Given the description of an element on the screen output the (x, y) to click on. 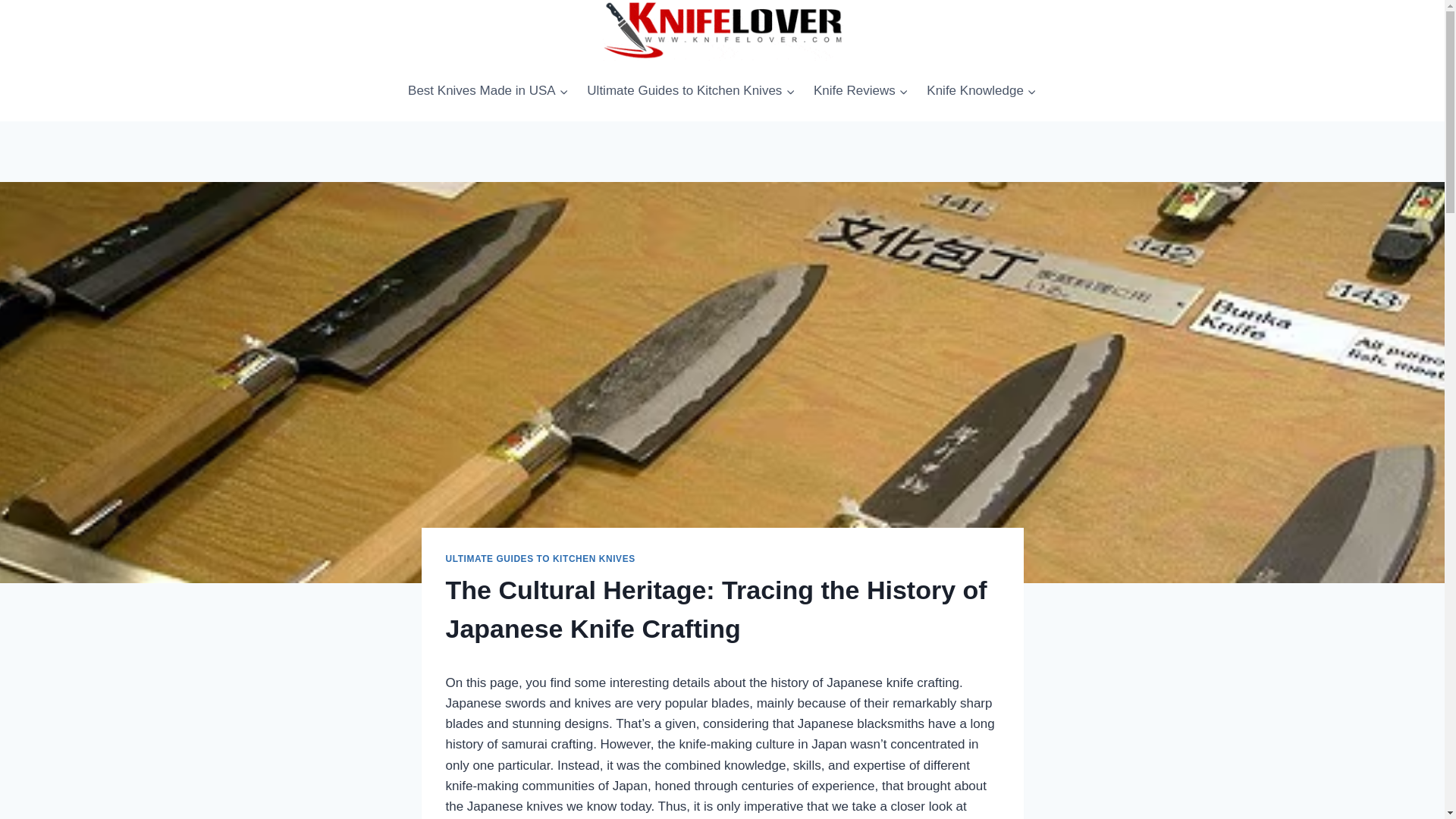
Knife Reviews (861, 90)
Knife Knowledge (981, 90)
Ultimate Guides to Kitchen Knives (691, 90)
Best Knives Made in USA (488, 90)
